Given the description of an element on the screen output the (x, y) to click on. 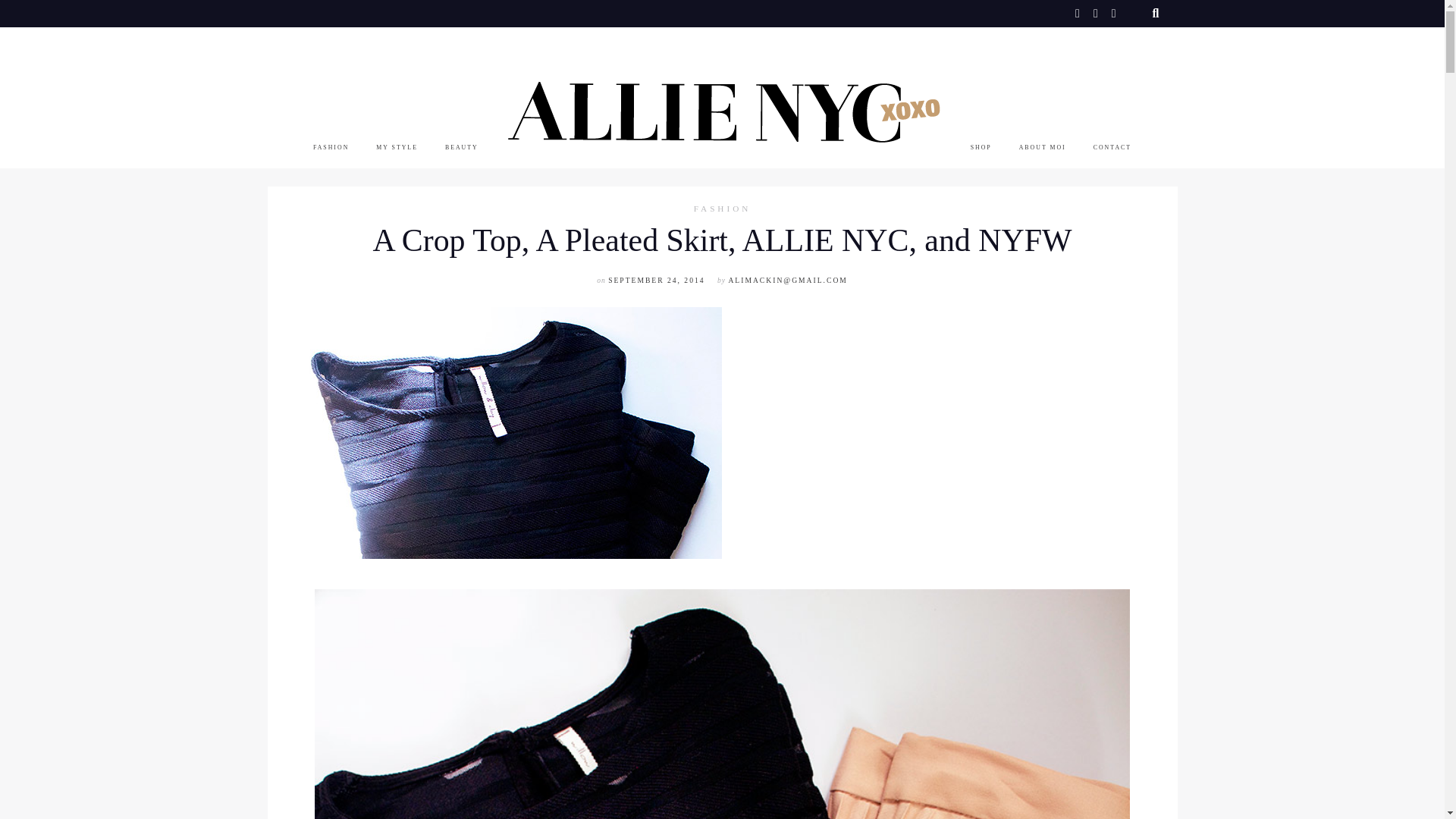
MY STYLE (396, 147)
CONTACT (1112, 147)
ABOUT MOI (1042, 147)
BEAUTY (462, 147)
FASHION (722, 209)
FASHION (331, 147)
